Given the description of an element on the screen output the (x, y) to click on. 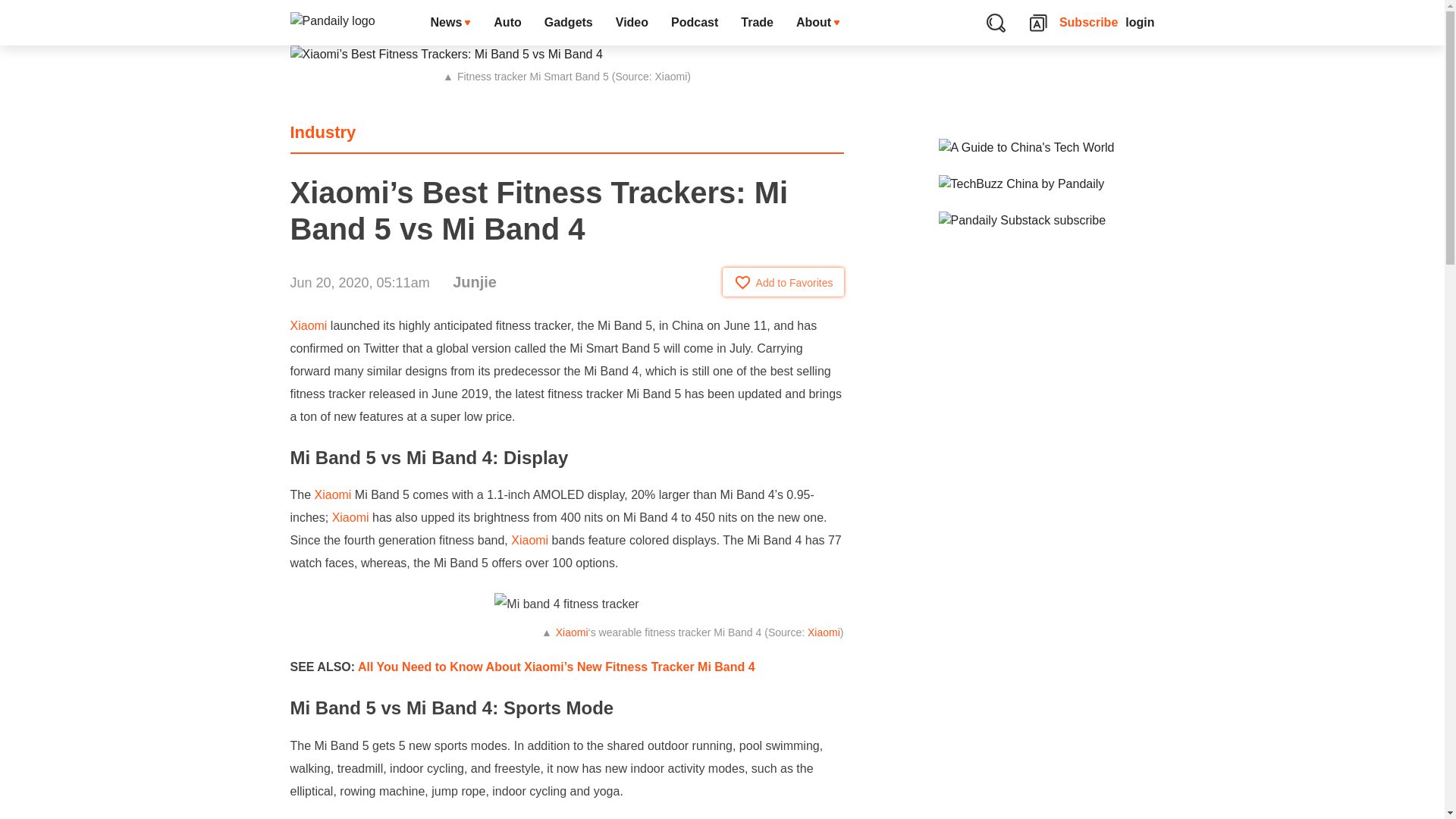
Subscribe (1088, 22)
Xiaomi (529, 540)
Jun 20, 2020, 05:11am (359, 282)
Junjie (474, 281)
Podcast (694, 22)
Xiaomi (572, 632)
Auto (506, 22)
News (450, 22)
Video (631, 22)
login (1139, 22)
